Given the description of an element on the screen output the (x, y) to click on. 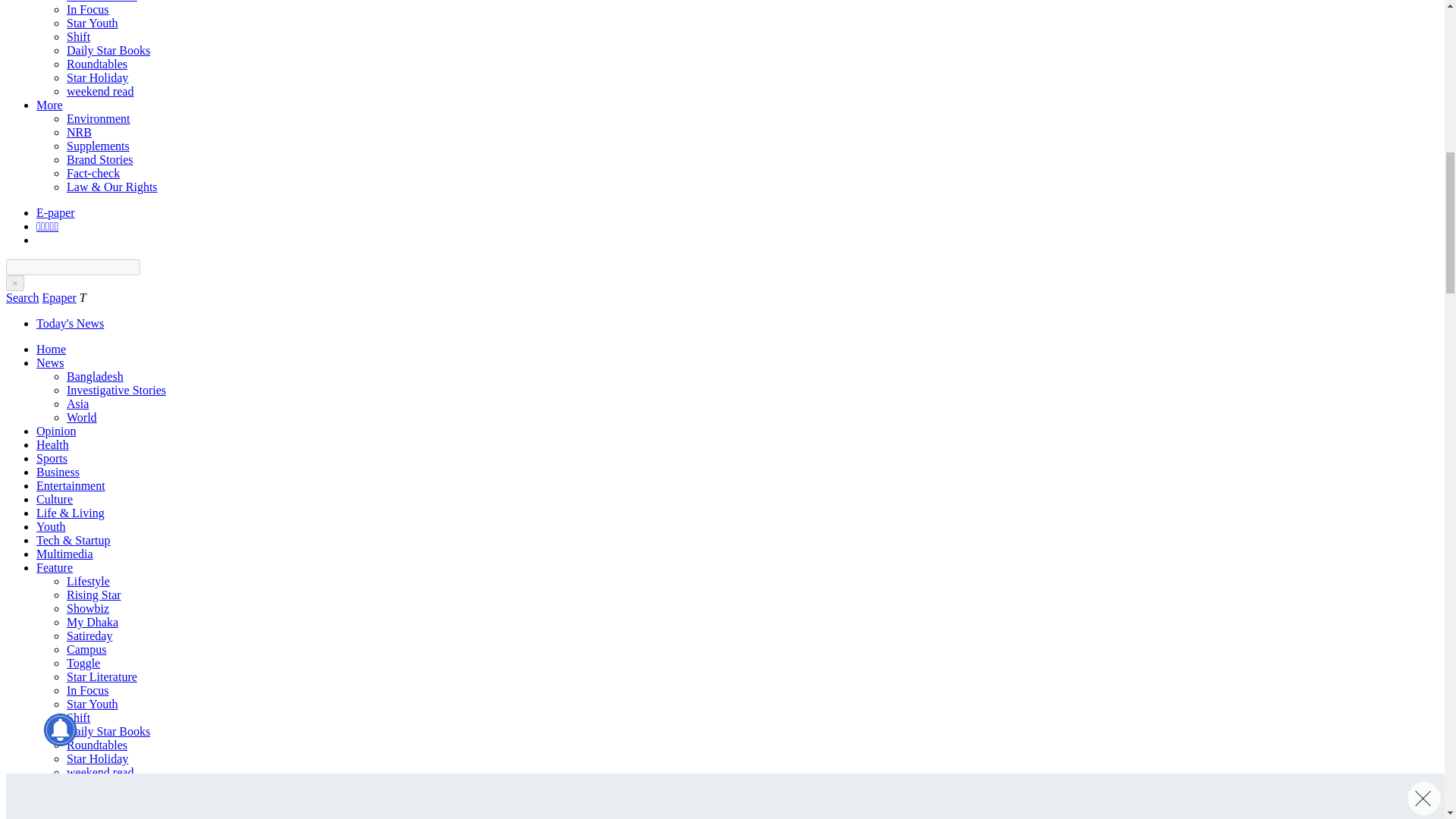
Star Youth (91, 22)
Shift (78, 36)
Star Holiday (97, 77)
Star Literature (101, 1)
weekend read (99, 91)
Roundtables (97, 63)
In Focus (87, 9)
Daily Star Books (107, 50)
